Given the description of an element on the screen output the (x, y) to click on. 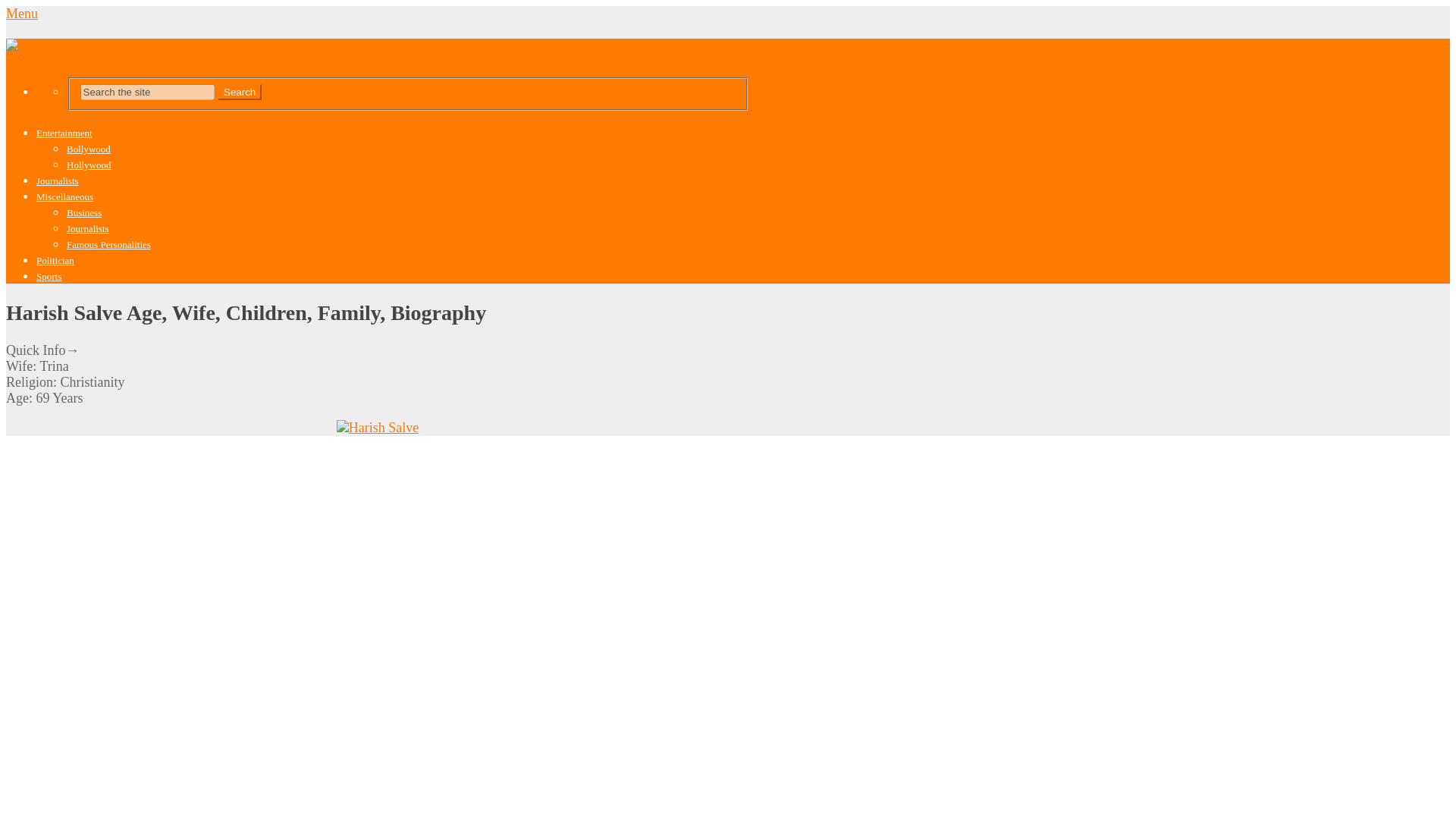
Bollywood (88, 148)
Journalists (87, 228)
Journalists (57, 180)
Search (239, 91)
Menu (21, 13)
Entertainment (64, 132)
Hollywood (89, 164)
Miscellaneous (64, 196)
Famous Personalities (108, 244)
Sports (48, 276)
